Given the description of an element on the screen output the (x, y) to click on. 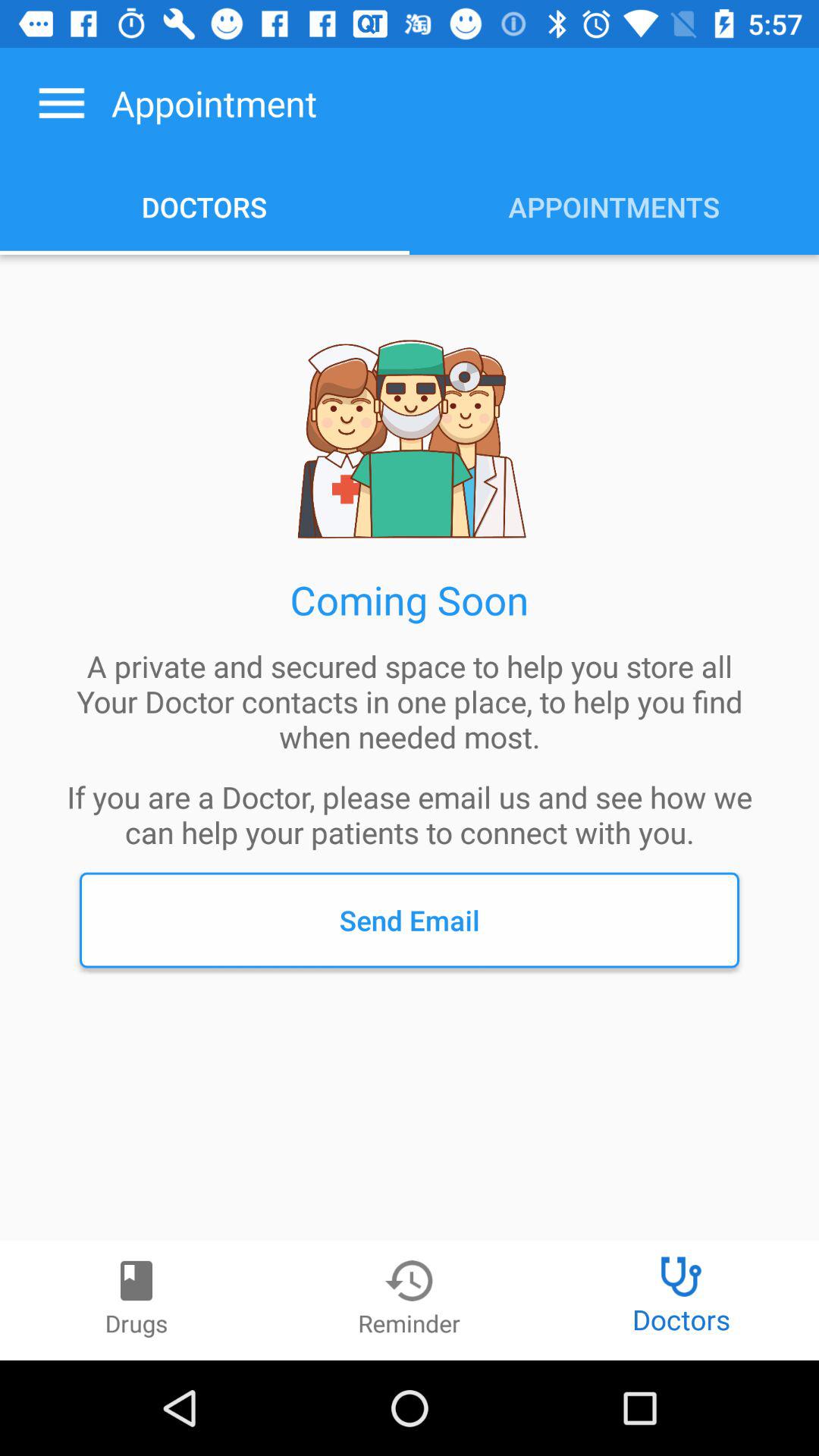
flip until the send email icon (409, 920)
